Given the description of an element on the screen output the (x, y) to click on. 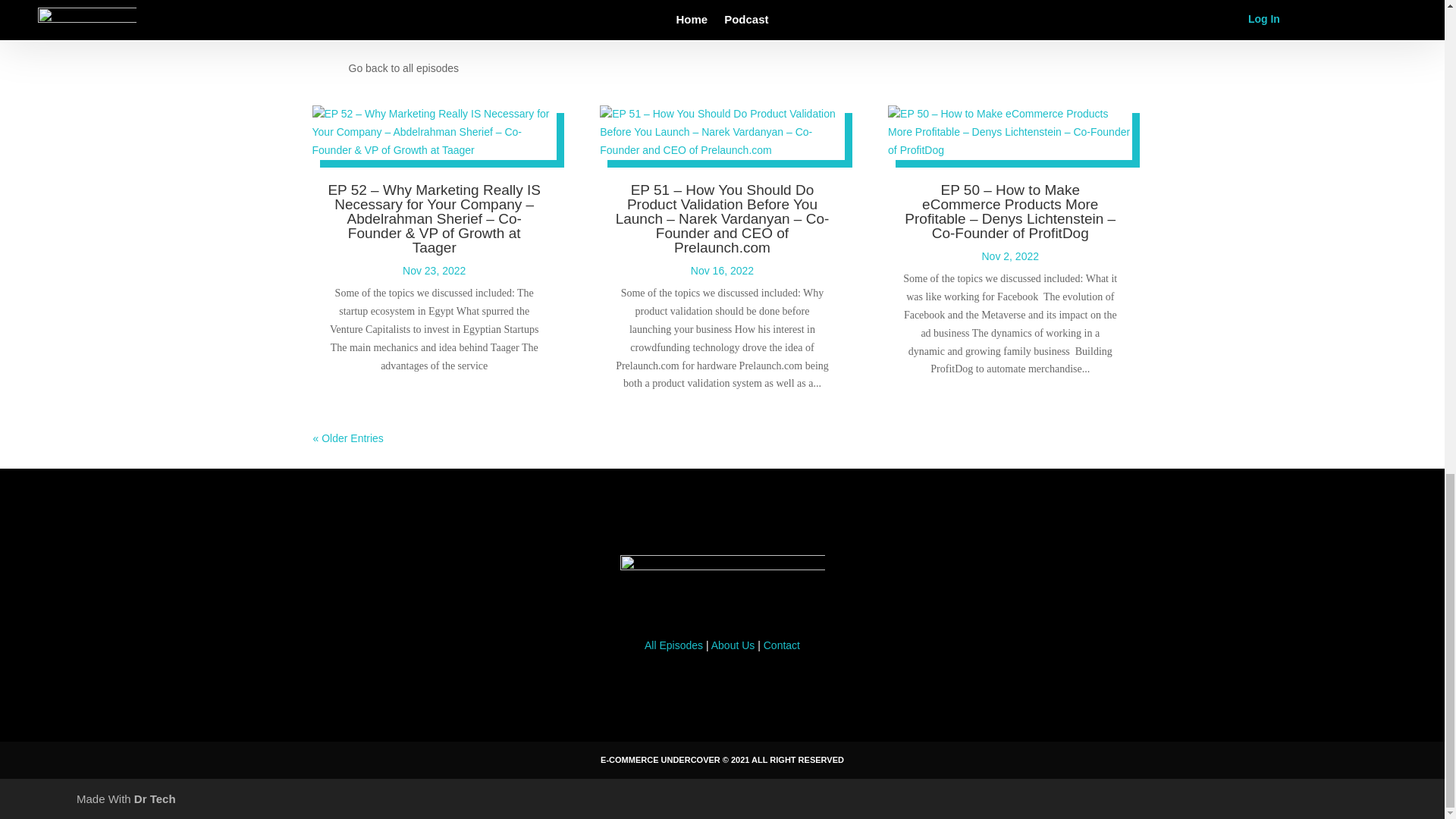
All Episodes (674, 645)
Contact (780, 645)
About Us (733, 645)
Made With Dr Tech (126, 798)
website menu logo (722, 584)
